Given the description of an element on the screen output the (x, y) to click on. 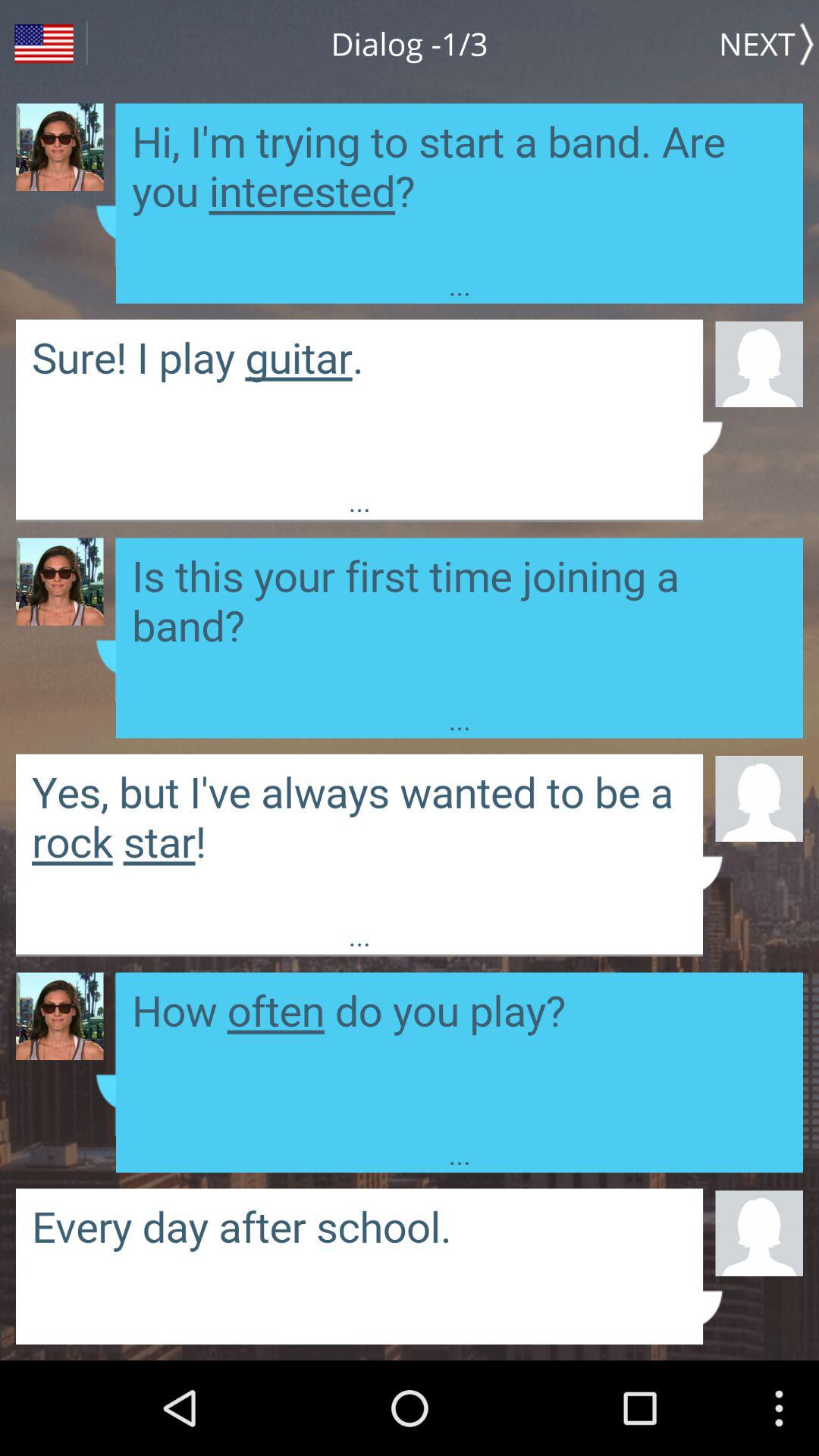
click the icon next to the dialog -1/3 item (43, 43)
